Given the description of an element on the screen output the (x, y) to click on. 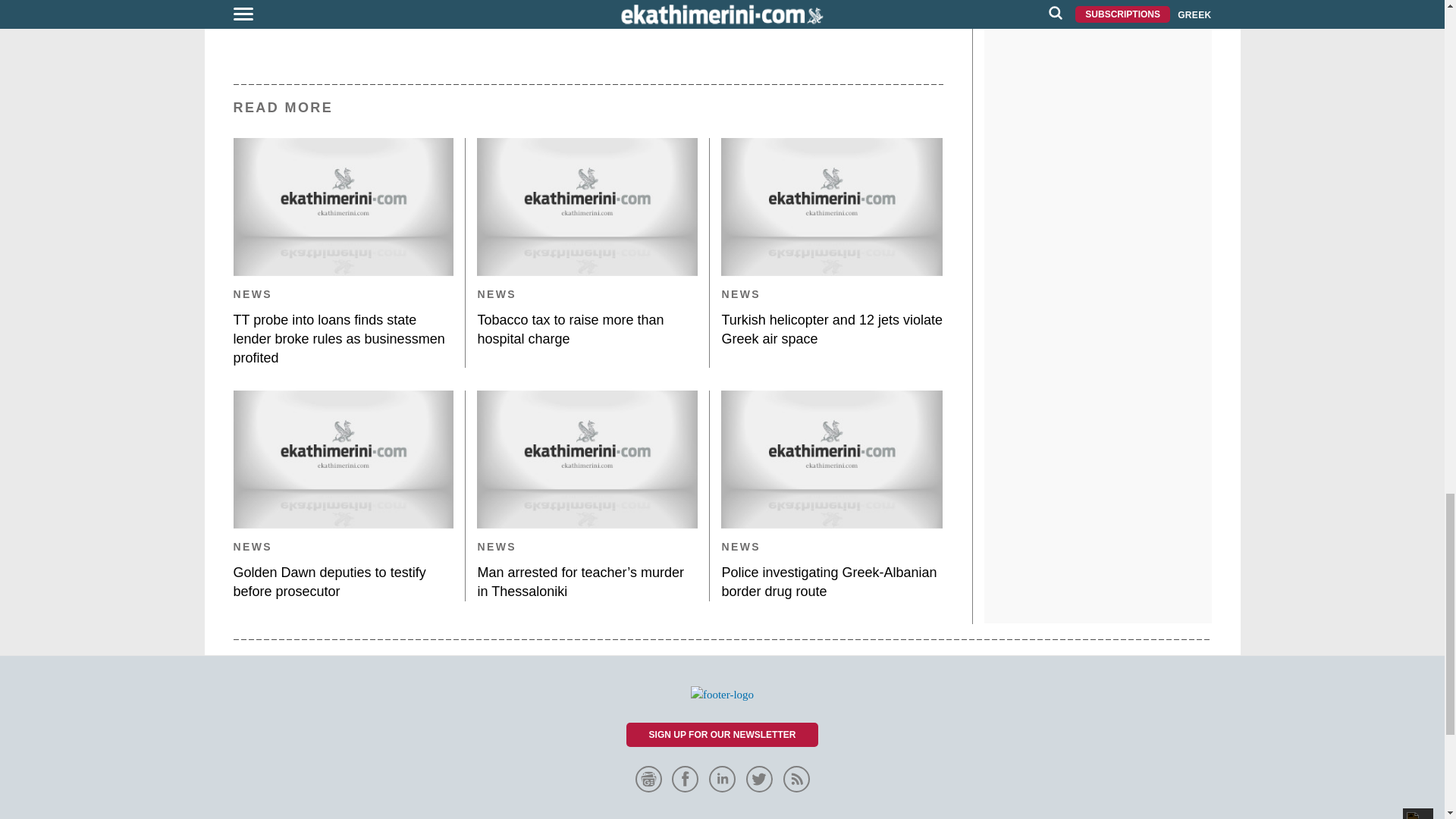
on (313, 1)
